Given the description of an element on the screen output the (x, y) to click on. 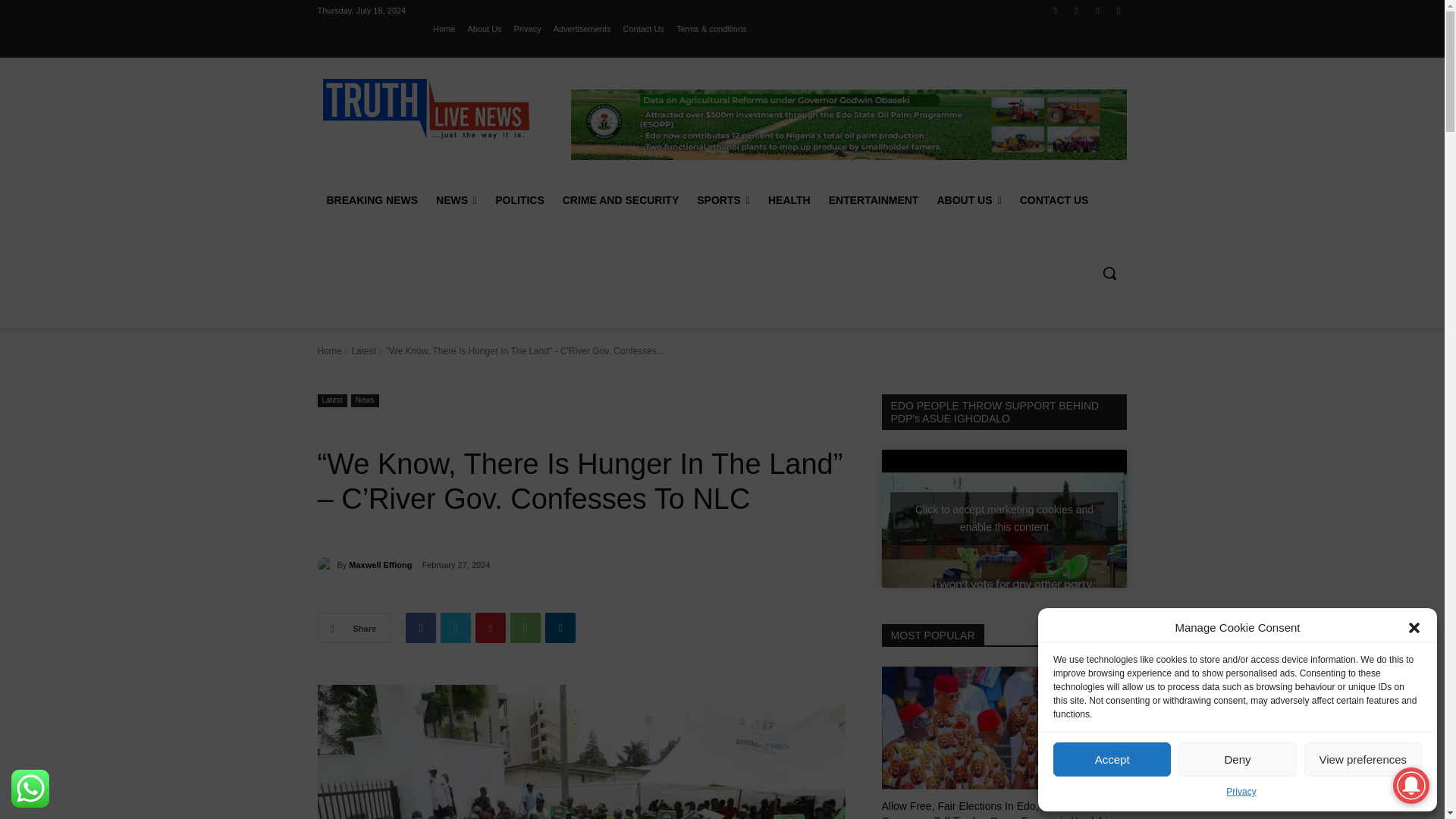
Maxwell Effiong (326, 564)
View all posts in Latest (362, 350)
Advertisements (582, 28)
Facebook (1055, 9)
WhatsApp (525, 627)
Privacy (527, 28)
Instagram (1075, 9)
Facebook (420, 627)
Home (443, 28)
Pinterest (490, 627)
Youtube (1117, 9)
Deny (1236, 759)
Linkedin (559, 627)
View preferences (1363, 759)
Contact Us (643, 28)
